Given the description of an element on the screen output the (x, y) to click on. 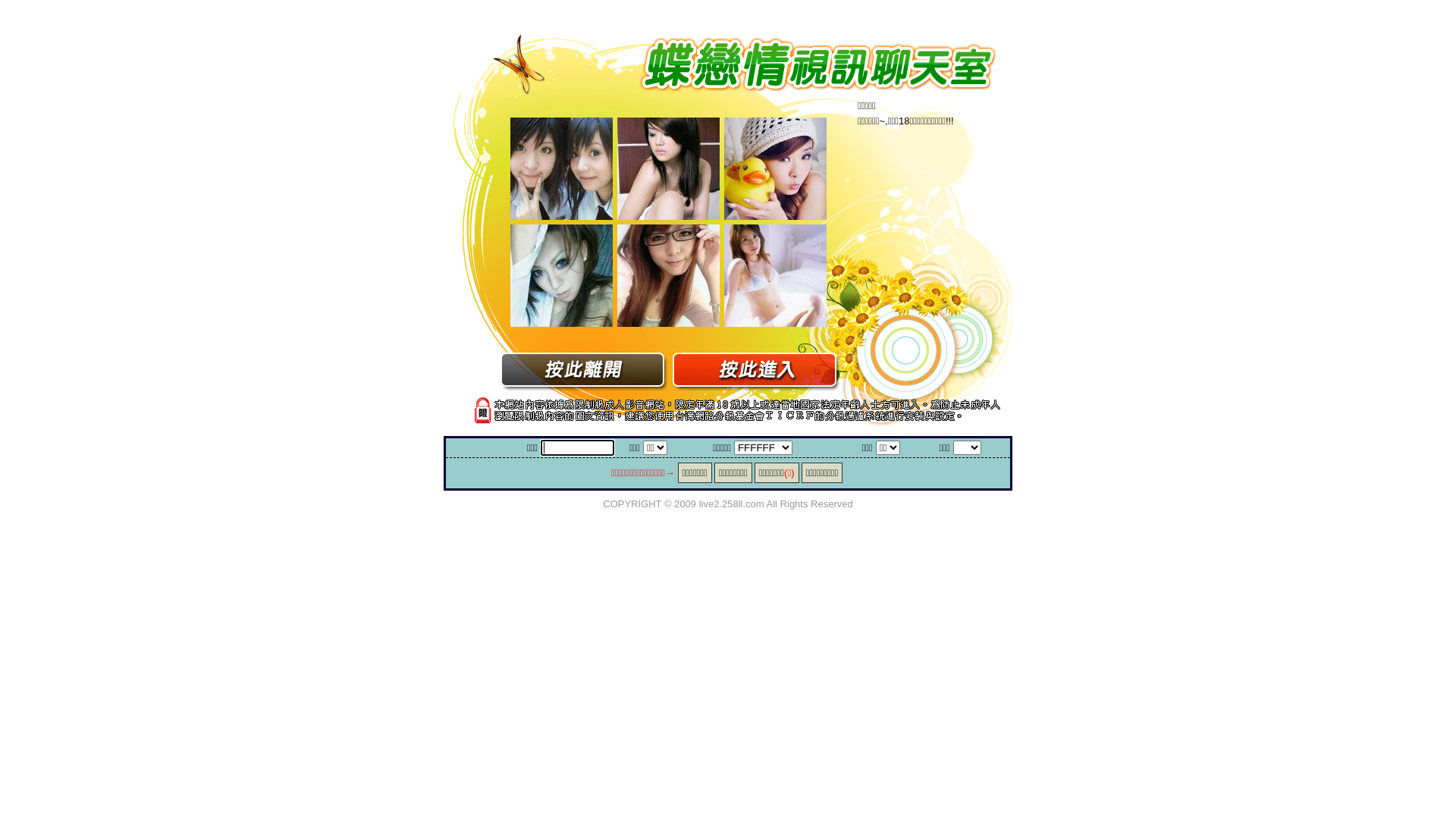
live2.258ll.com Element type: text (731, 502)
